Given the description of an element on the screen output the (x, y) to click on. 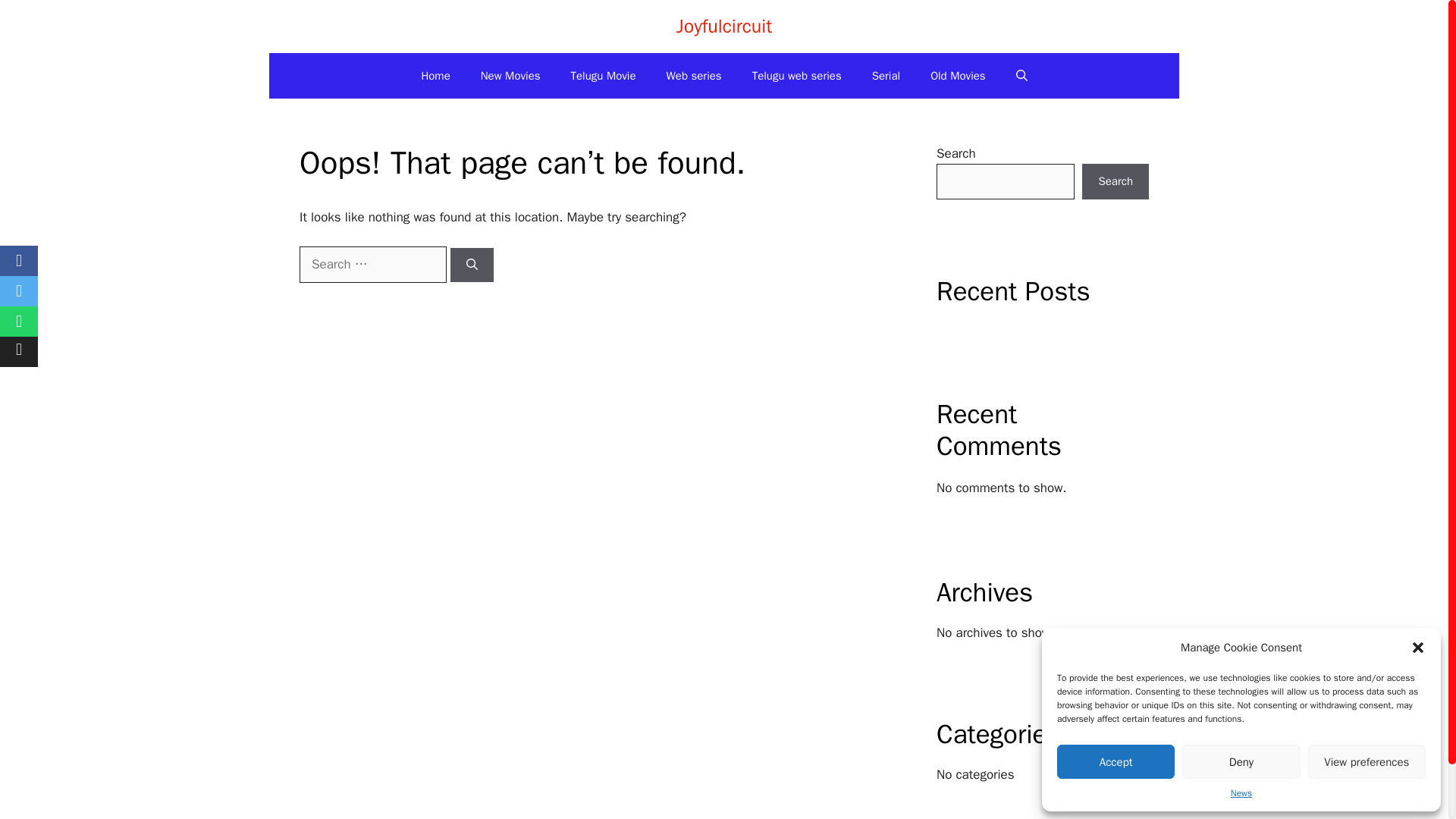
Joyfulcircuit (724, 25)
Telugu web series (796, 75)
Accept (1115, 761)
Old Movies (958, 75)
New Movies (510, 75)
Search for: (372, 264)
Serial (886, 75)
Search (1114, 181)
View preferences (1366, 761)
Home (435, 75)
Telugu Movie (603, 75)
Web series (693, 75)
News (1241, 793)
Deny (1241, 761)
